Given the description of an element on the screen output the (x, y) to click on. 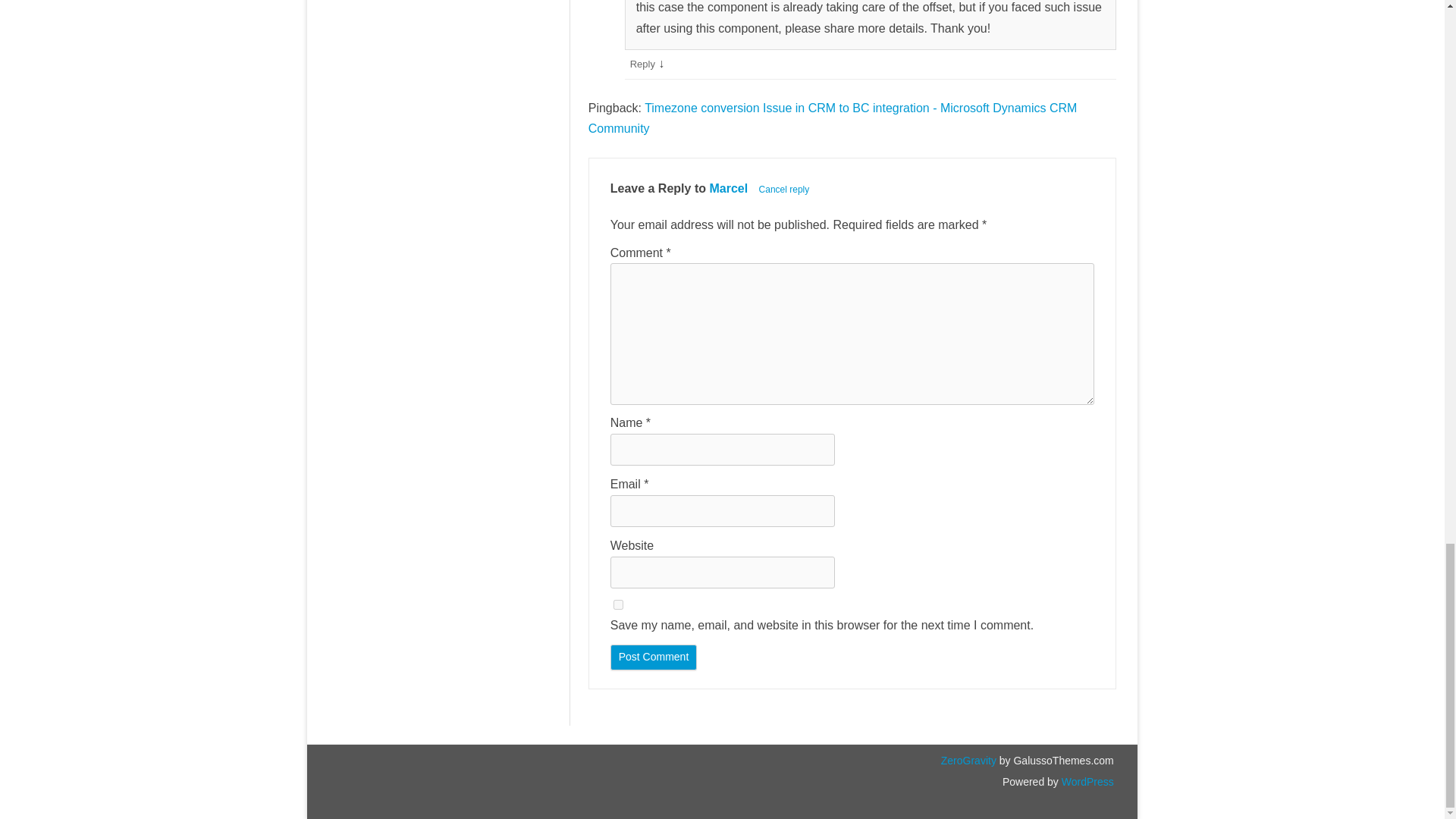
Semantic Personal Publishing Platform (1085, 781)
yes (617, 604)
Post Comment (653, 657)
